Given the description of an element on the screen output the (x, y) to click on. 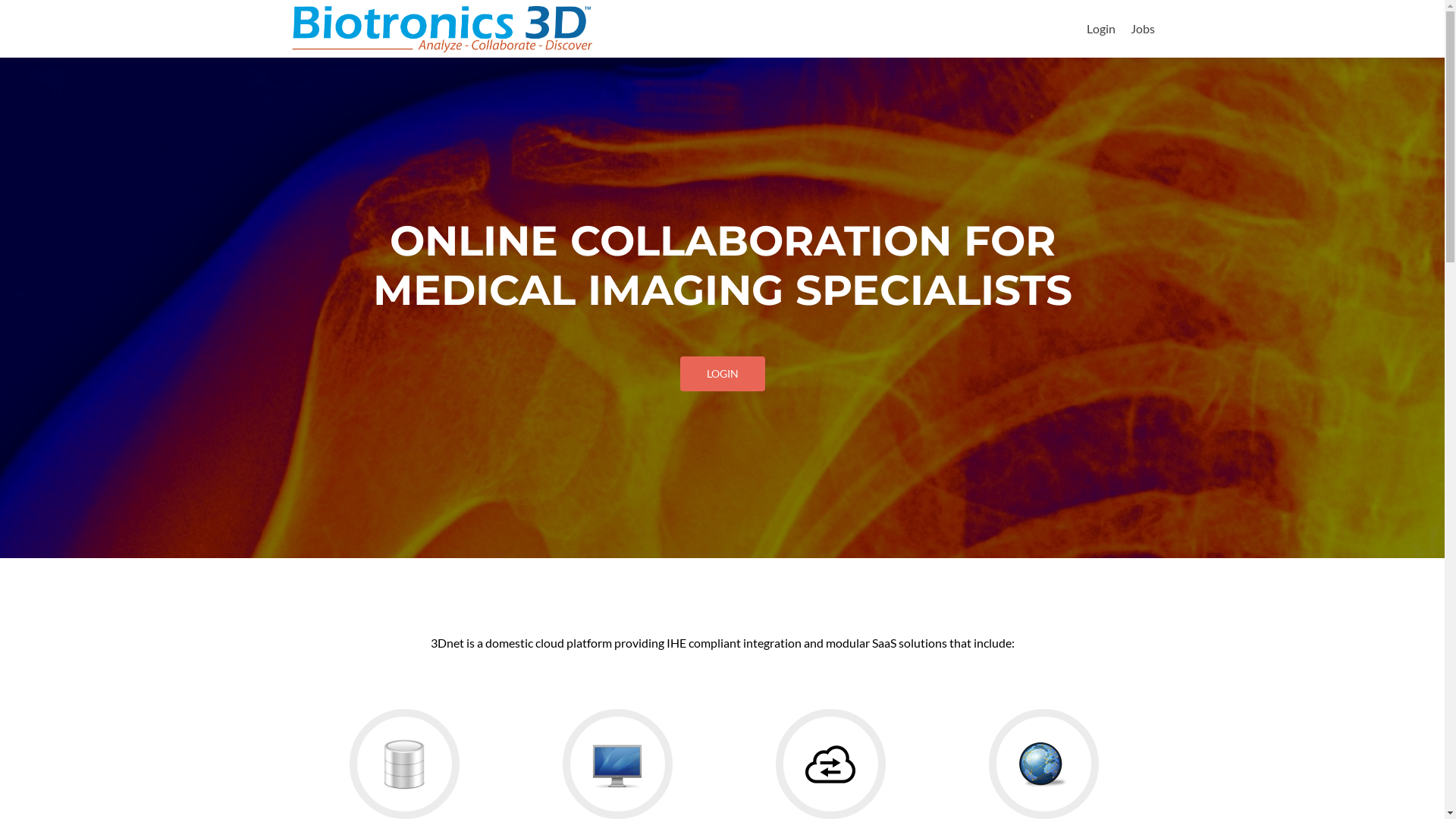
Jobs Element type: text (1141, 28)
LOGIN Element type: text (721, 373)
Login Element type: text (1099, 28)
